Given the description of an element on the screen output the (x, y) to click on. 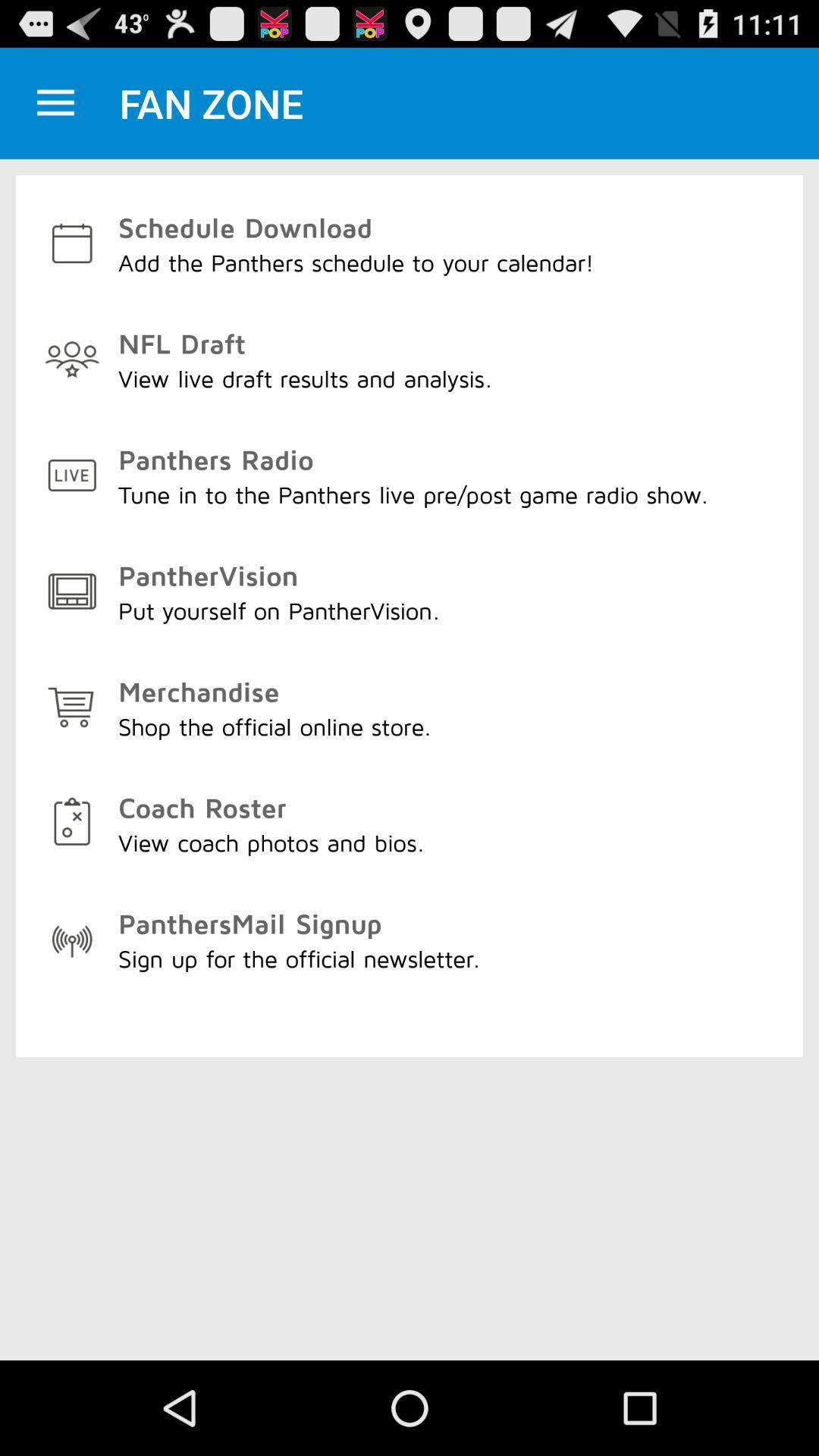
open menu (55, 103)
